Given the description of an element on the screen output the (x, y) to click on. 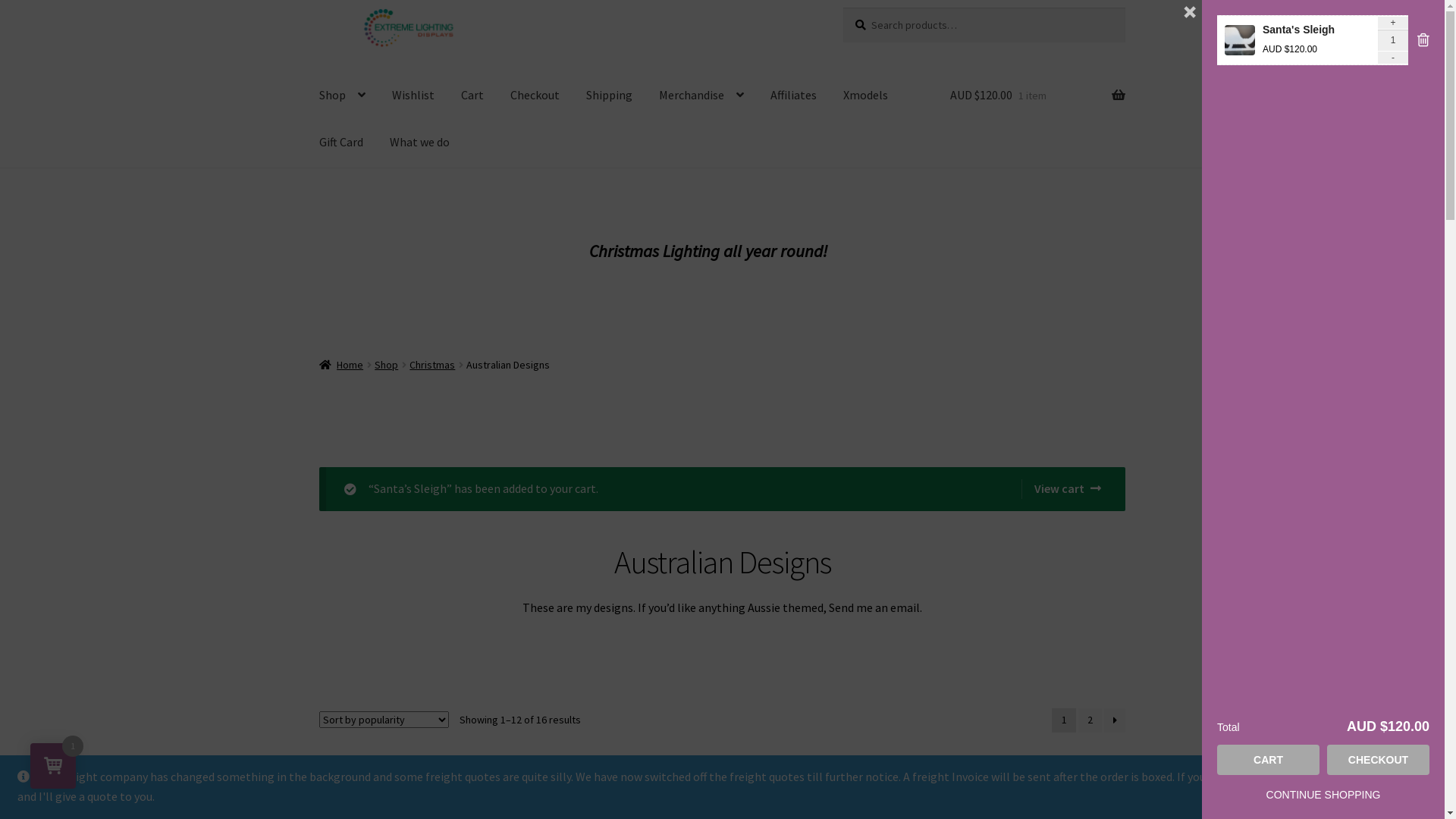
Shop Element type: text (386, 364)
Shop Element type: text (342, 88)
CHECKOUT Element type: text (1378, 759)
Wishlist Element type: text (412, 88)
Checkout Element type: text (534, 88)
View cart Element type: text (1061, 488)
Santa's Sleigh Element type: text (1298, 29)
What we do Element type: text (419, 136)
Xmodels Element type: text (865, 88)
Shipping Element type: text (609, 88)
Search Element type: text (842, 6)
Merchandise Element type: text (701, 88)
Skip to navigation Element type: text (318, 6)
CART Element type: text (1268, 759)
Christmas Element type: text (432, 364)
Home Element type: text (341, 364)
Affiliates Element type: text (793, 88)
Cart Element type: text (471, 88)
2 Element type: text (1090, 720)
Gift Card Element type: text (341, 136)
AUD $120.00 1 item Element type: text (1037, 88)
